Given the description of an element on the screen output the (x, y) to click on. 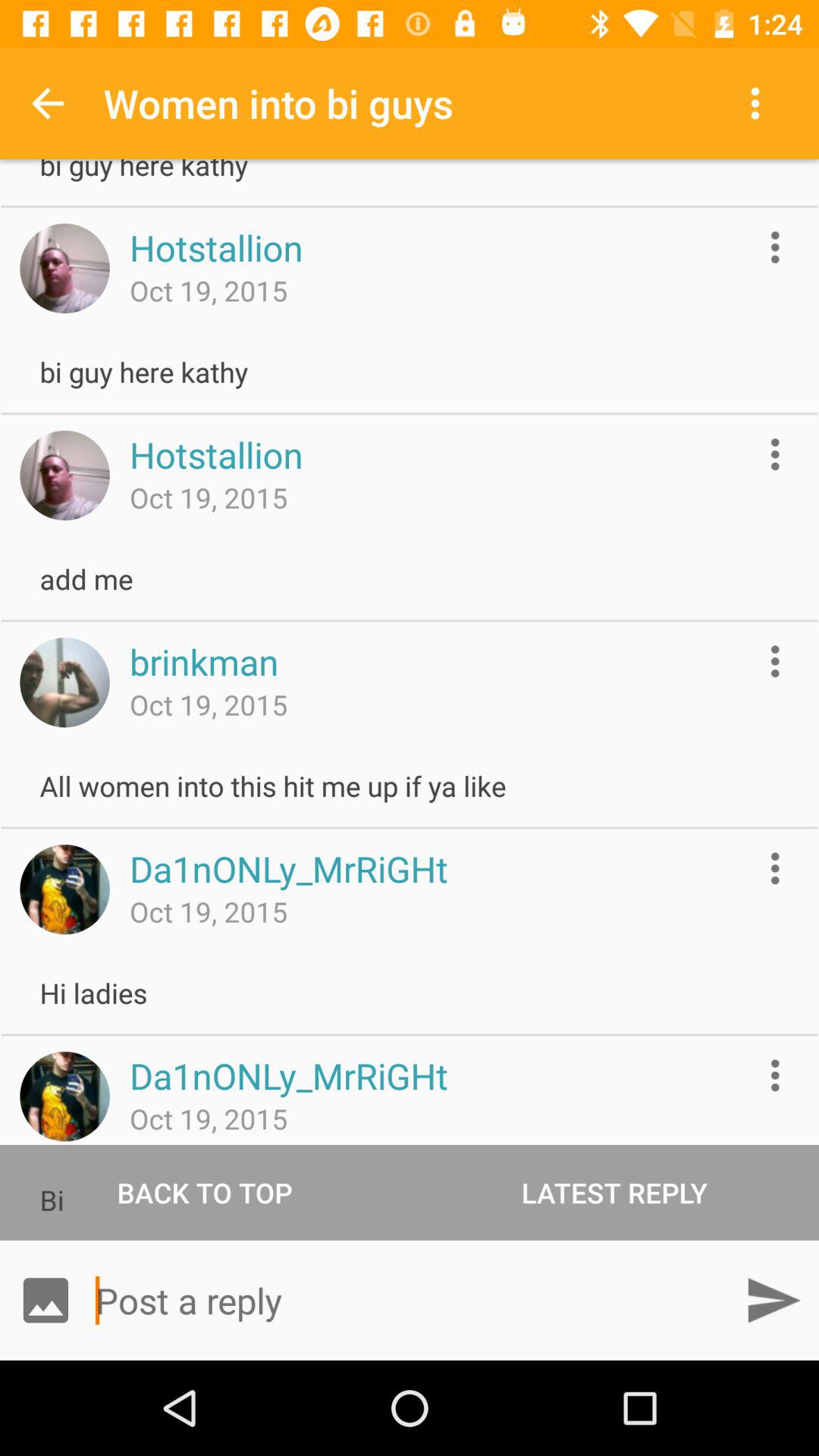
tap the icon above oct 19, 2015 (203, 661)
